Given the description of an element on the screen output the (x, y) to click on. 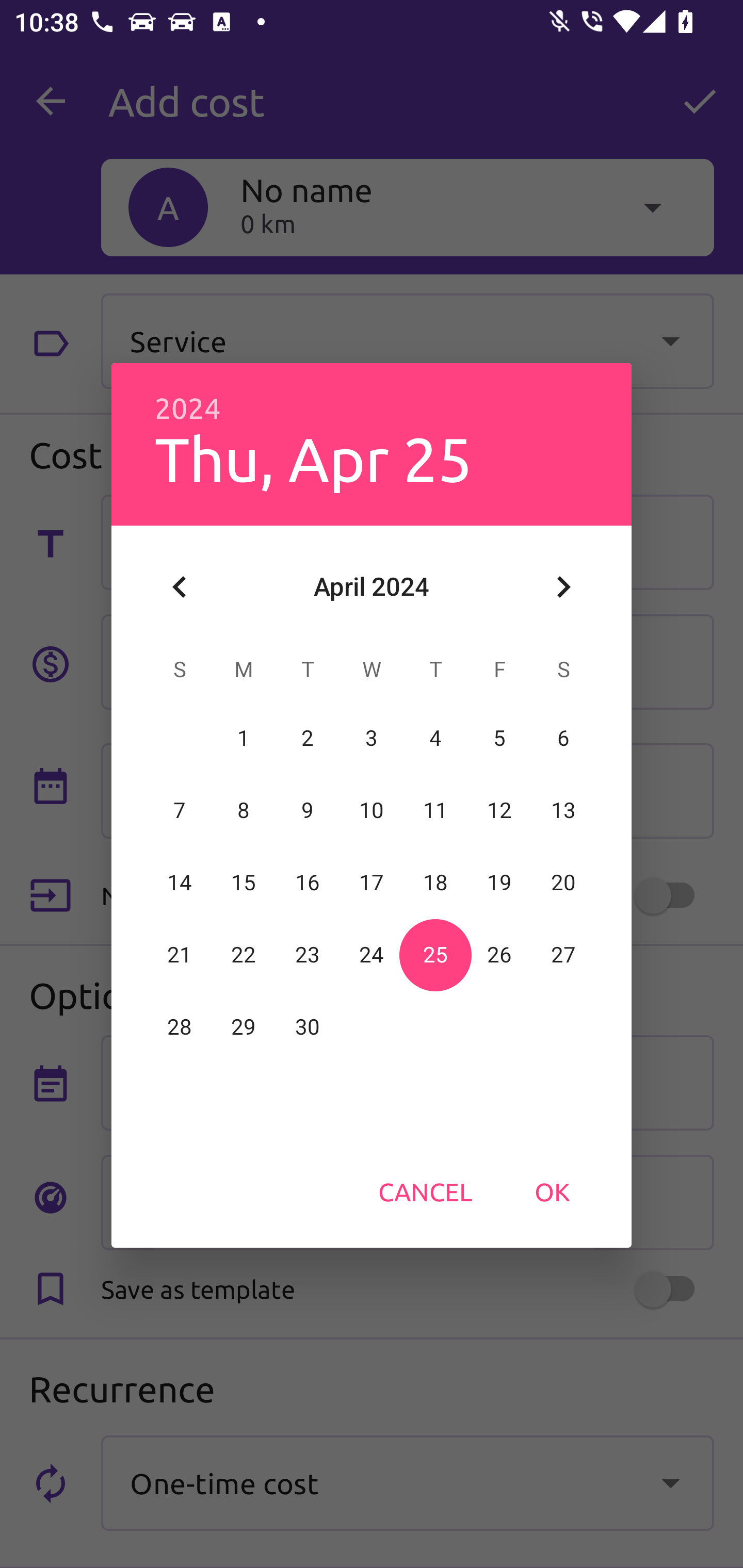
2024 (187, 408)
Thu, Apr 25 (312, 458)
Previous month (178, 587)
Next month (563, 587)
1 01 April 2024 (243, 738)
2 02 April 2024 (307, 738)
3 03 April 2024 (371, 738)
4 04 April 2024 (435, 738)
5 05 April 2024 (499, 738)
6 06 April 2024 (563, 738)
7 07 April 2024 (179, 810)
8 08 April 2024 (243, 810)
9 09 April 2024 (307, 810)
10 10 April 2024 (371, 810)
11 11 April 2024 (435, 810)
12 12 April 2024 (499, 810)
13 13 April 2024 (563, 810)
14 14 April 2024 (179, 882)
15 15 April 2024 (243, 882)
16 16 April 2024 (307, 882)
17 17 April 2024 (371, 882)
18 18 April 2024 (435, 882)
19 19 April 2024 (499, 882)
20 20 April 2024 (563, 882)
21 21 April 2024 (179, 954)
22 22 April 2024 (243, 954)
23 23 April 2024 (307, 954)
24 24 April 2024 (371, 954)
25 25 April 2024 (435, 954)
26 26 April 2024 (499, 954)
27 27 April 2024 (563, 954)
28 28 April 2024 (179, 1026)
29 29 April 2024 (243, 1026)
30 30 April 2024 (307, 1026)
CANCEL (425, 1191)
OK (552, 1191)
